Given the description of an element on the screen output the (x, y) to click on. 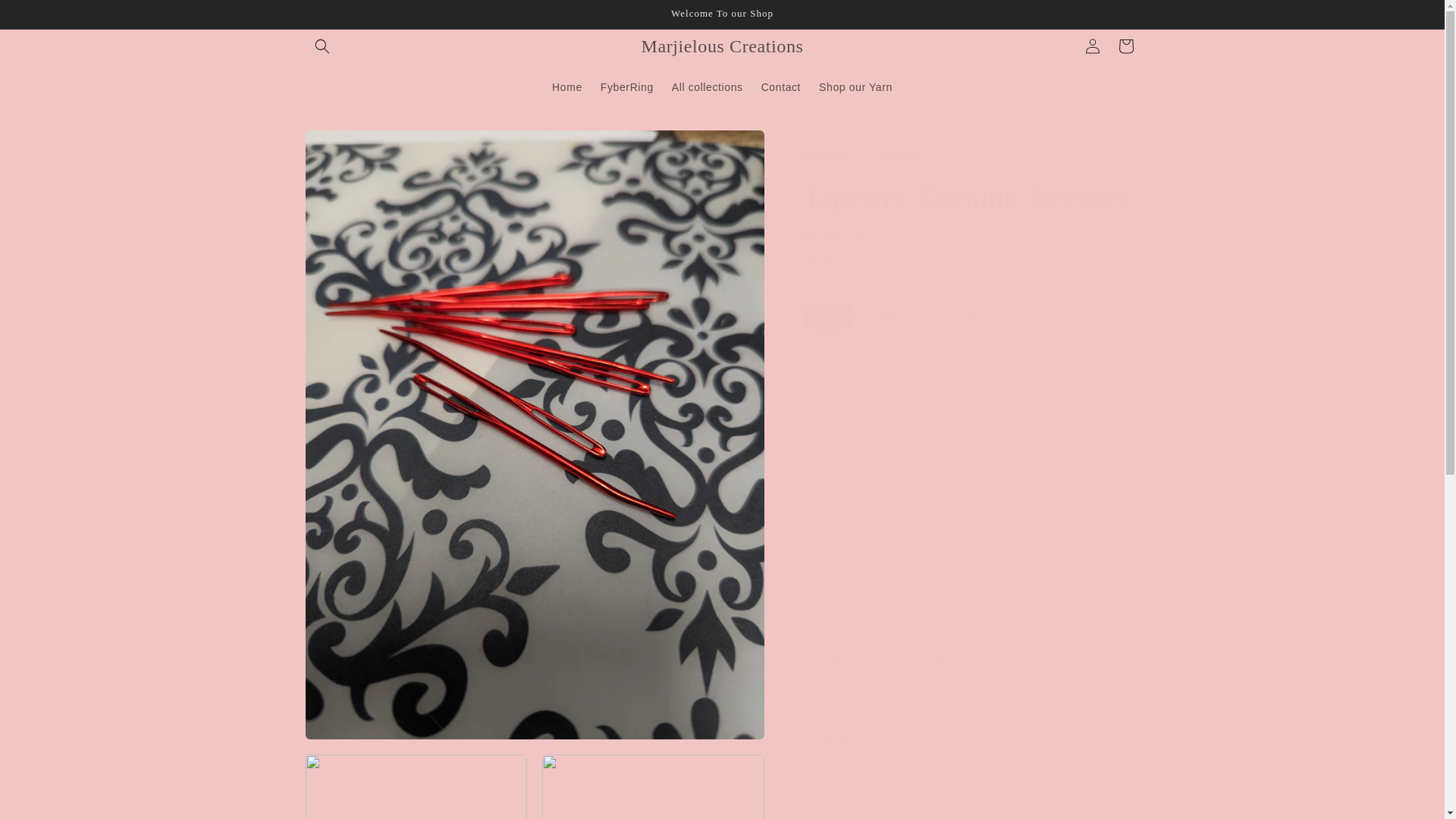
Open media 2 in modal (415, 786)
Shipping (821, 261)
Log in (1091, 46)
Skip to product information (350, 147)
Shop our Yarn (855, 87)
Contact (780, 87)
FyberRing (626, 87)
Marjielous Creations (721, 46)
Home (567, 87)
1 (856, 414)
Open media 3 in modal (652, 786)
